Given the description of an element on the screen output the (x, y) to click on. 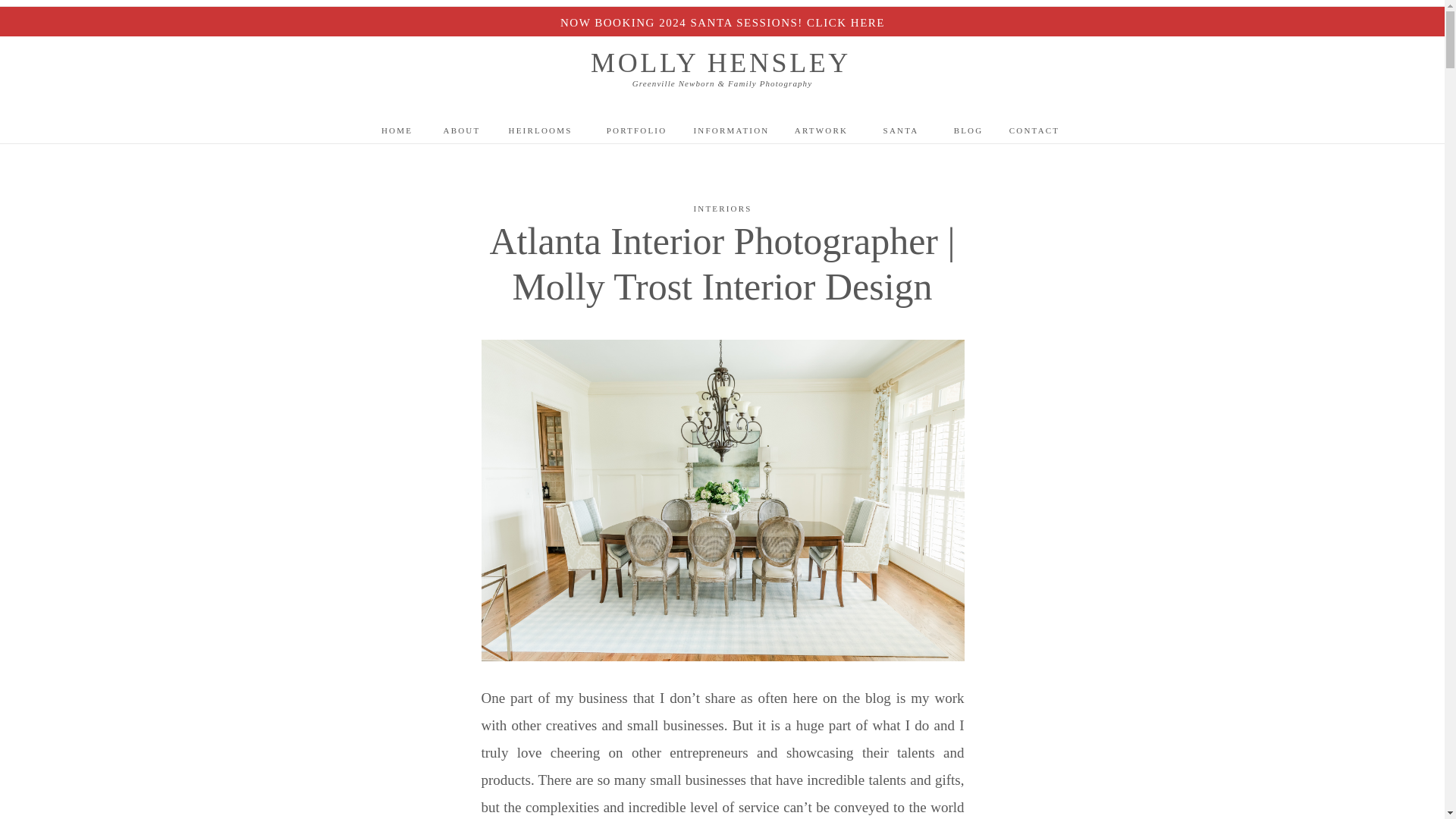
INTERIORS (722, 207)
CONTACT (1033, 128)
BLOG (968, 128)
HEIRLOOMS (539, 128)
NOW BOOKING 2024 SANTA SESSIONS! CLICK HERE (722, 21)
INFORMATION (730, 128)
PORTFOLIO (636, 128)
HOME (397, 128)
SANTA (900, 128)
MOLLY HENSLEY (720, 61)
